Given the description of an element on the screen output the (x, y) to click on. 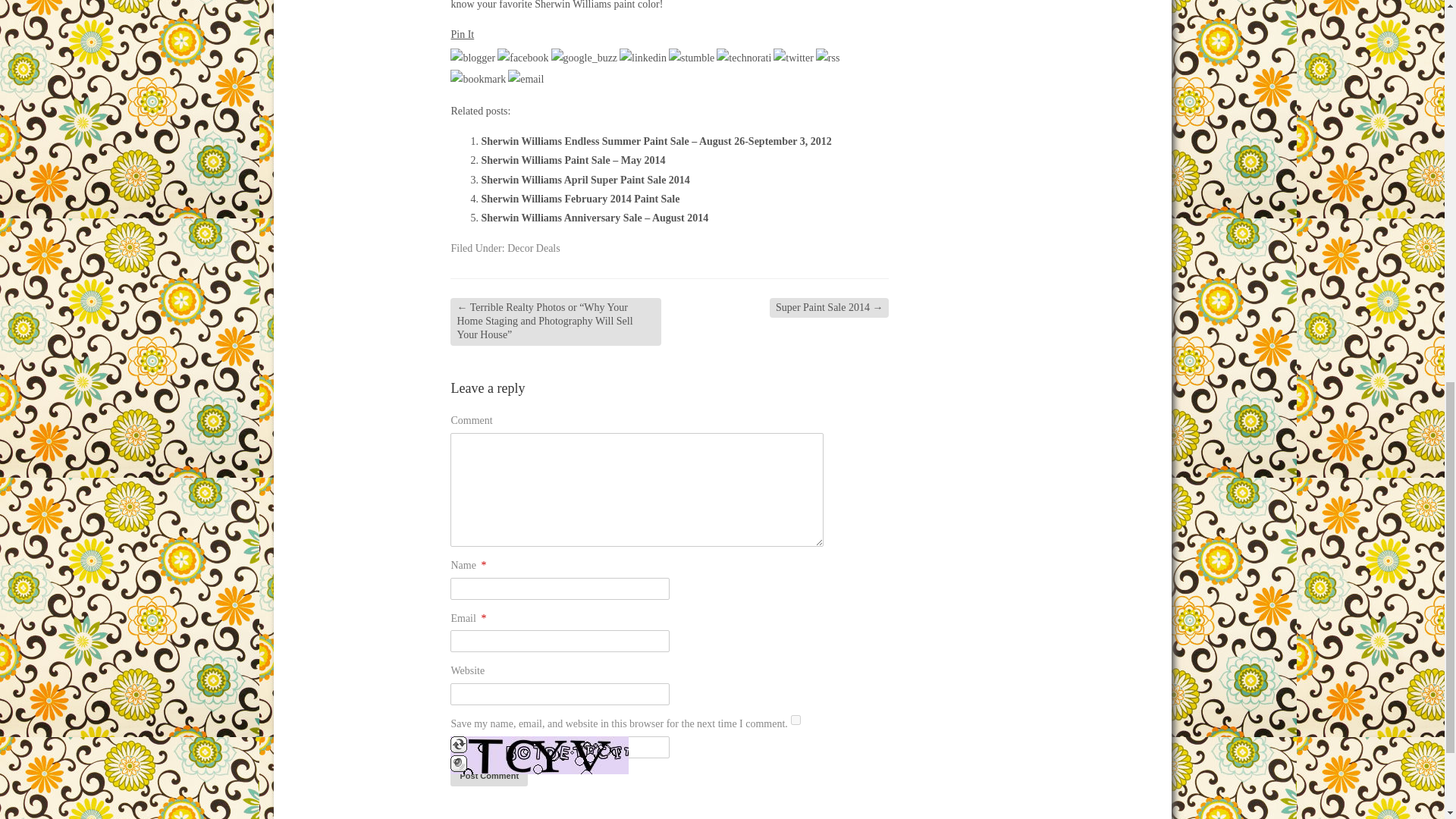
Share this post : Endless Summer Paint Sale 2014 on Blogger (472, 57)
Post Comment (488, 775)
Buzz up this post : Endless Summer Paint Sale 2014  (584, 57)
Pin It (461, 34)
Tweet this post : Endless Summer Paint Sale 2014 on Twitter (793, 57)
Follow this post : Endless Summer Paint Sale 2014 comments (827, 57)
yes (795, 719)
Bookmark this post : Endless Summer Paint Sale 2014 (477, 79)
Share this post : Endless Summer Paint Sale 2014 on Linkedin (643, 57)
